Given the description of an element on the screen output the (x, y) to click on. 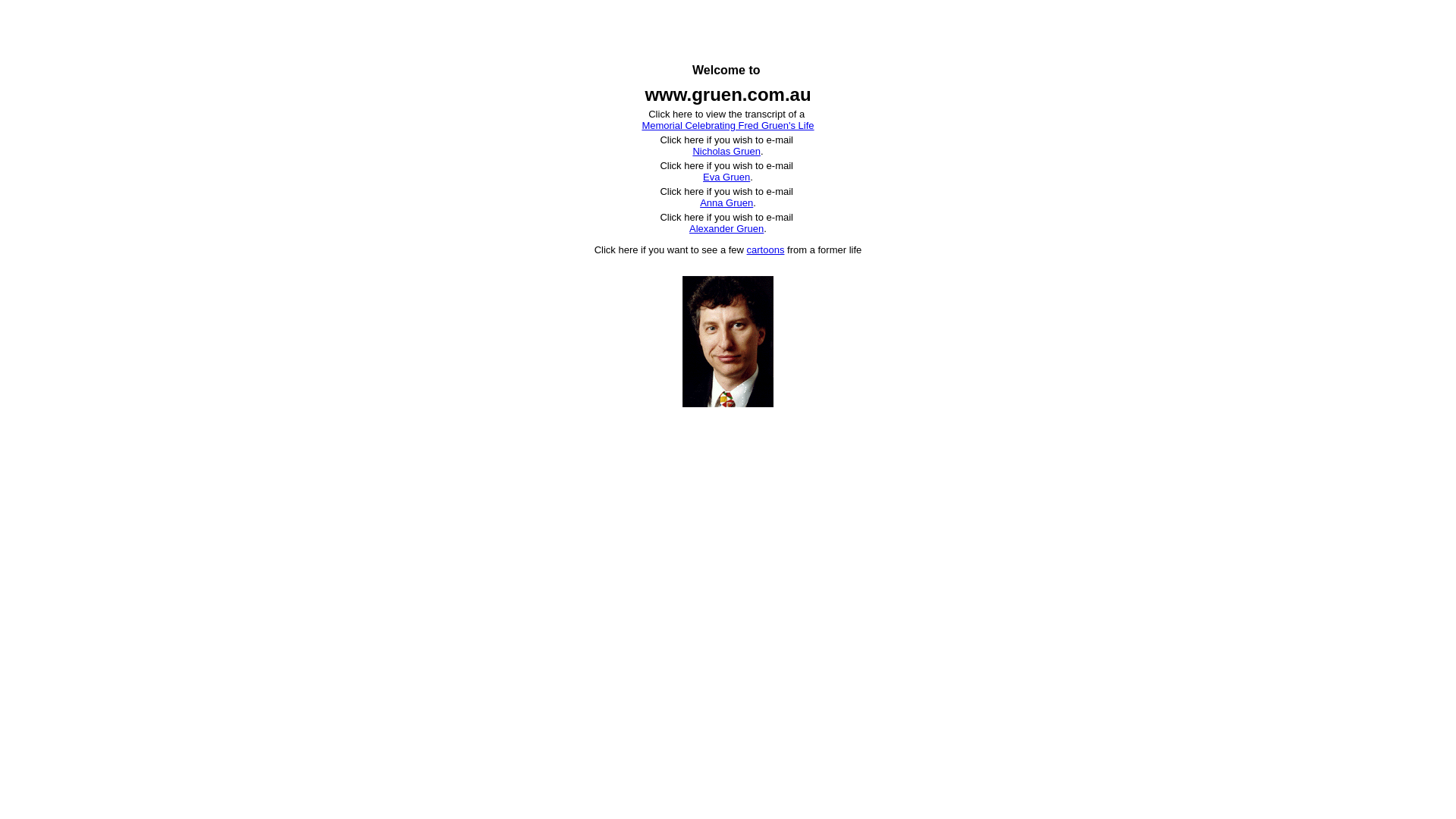
Memorial Celebrating Fred Gruen's Life Element type: text (727, 125)
cartoons Element type: text (765, 249)
Alexander Gruen Element type: text (742, 233)
Nicholas Gruen Element type: text (743, 156)
Eva Gruen Element type: text (748, 182)
Anna Gruen Element type: text (747, 208)
